Given the description of an element on the screen output the (x, y) to click on. 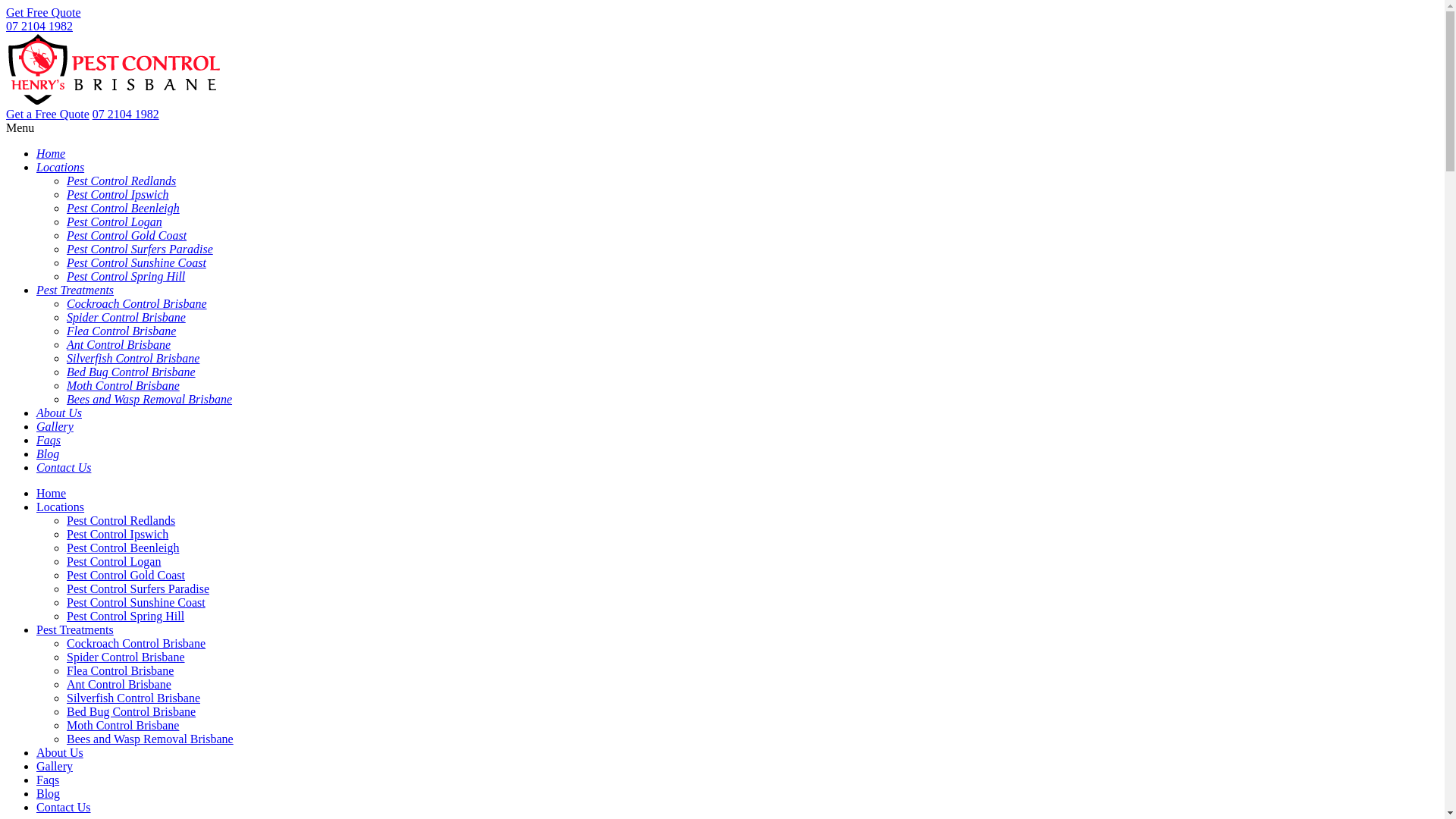
Pest Control Sunshine Coast Element type: text (136, 262)
Pest Control Redlands Element type: text (120, 520)
Pest Control Surfers Paradise Element type: text (139, 248)
Pest Control Logan Element type: text (114, 221)
Blog Element type: text (47, 453)
Gallery Element type: text (54, 765)
Pest Control Redlands Element type: text (120, 180)
Pest Control Ipswich Element type: text (117, 194)
Menu Element type: text (20, 127)
Contact Us Element type: text (63, 806)
Contact Us Element type: text (63, 467)
Faqs Element type: text (48, 439)
Home Element type: text (50, 153)
Pest Control Logan Element type: text (113, 561)
Silverfish Control Brisbane Element type: text (132, 357)
Bees and Wasp Removal Brisbane Element type: text (149, 398)
Locations Element type: text (60, 506)
Spider Control Brisbane Element type: text (125, 316)
Pest Control Spring Hill Element type: text (125, 275)
Pest Control Beenleigh Element type: text (122, 207)
Home Element type: text (50, 492)
Pest Control Beenleigh Element type: text (122, 547)
07 2104 1982 Element type: text (125, 113)
Pest Control Spring Hill Element type: text (125, 615)
Pest Control Gold Coast Element type: text (126, 235)
Silverfish Control Brisbane Element type: text (133, 697)
Pest Control Ipswich Element type: text (117, 533)
Moth Control Brisbane Element type: text (122, 385)
Get Free Quote Element type: text (43, 12)
Spider Control Brisbane Element type: text (125, 656)
Faqs Element type: text (47, 779)
Pest Control Gold Coast Element type: text (125, 574)
Cockroach Control Brisbane Element type: text (135, 643)
Get a Free Quote Element type: text (47, 113)
Bed Bug Control Brisbane Element type: text (130, 711)
Pest Treatments Element type: text (74, 629)
About Us Element type: text (59, 752)
Pest Treatments Element type: text (74, 289)
Bees and Wasp Removal Brisbane Element type: text (149, 738)
Pest Control Surfers Paradise Element type: text (137, 588)
07 2104 1982 Element type: text (39, 25)
Ant Control Brisbane Element type: text (118, 683)
Blog Element type: text (47, 793)
Pest Control Sunshine Coast Element type: text (135, 602)
Flea Control Brisbane Element type: text (119, 670)
About Us Element type: text (58, 412)
Locations Element type: text (60, 166)
Cockroach Control Brisbane Element type: text (136, 303)
Moth Control Brisbane Element type: text (122, 724)
Flea Control Brisbane Element type: text (120, 330)
Gallery Element type: text (54, 426)
Ant Control Brisbane Element type: text (118, 344)
Bed Bug Control Brisbane Element type: text (130, 371)
